Given the description of an element on the screen output the (x, y) to click on. 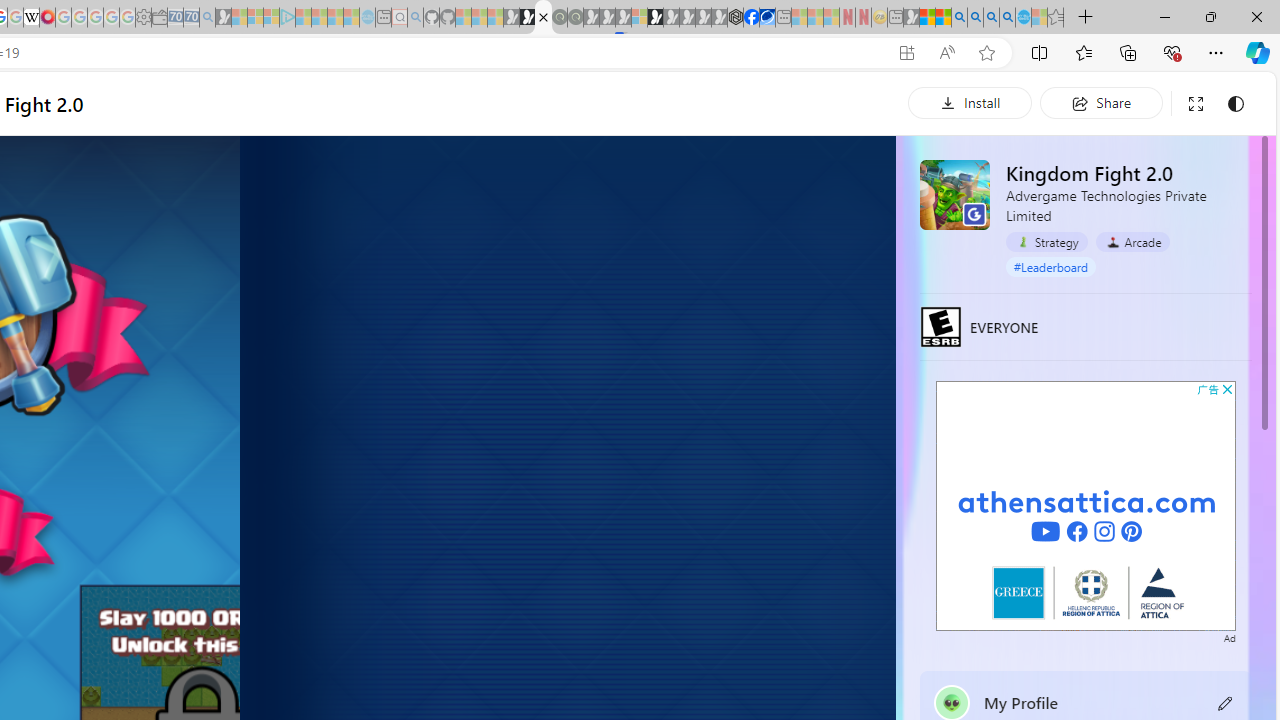
Bing Real Estate - Home sales and rental listings - Sleeping (207, 17)
Services - Maintenance | Sky Blue Bikes - Sky Blue Bikes (1023, 17)
Ad (1229, 636)
Future Focus Report 2024 - Sleeping (575, 17)
Microsoft Start - Sleeping (335, 17)
